Given the description of an element on the screen output the (x, y) to click on. 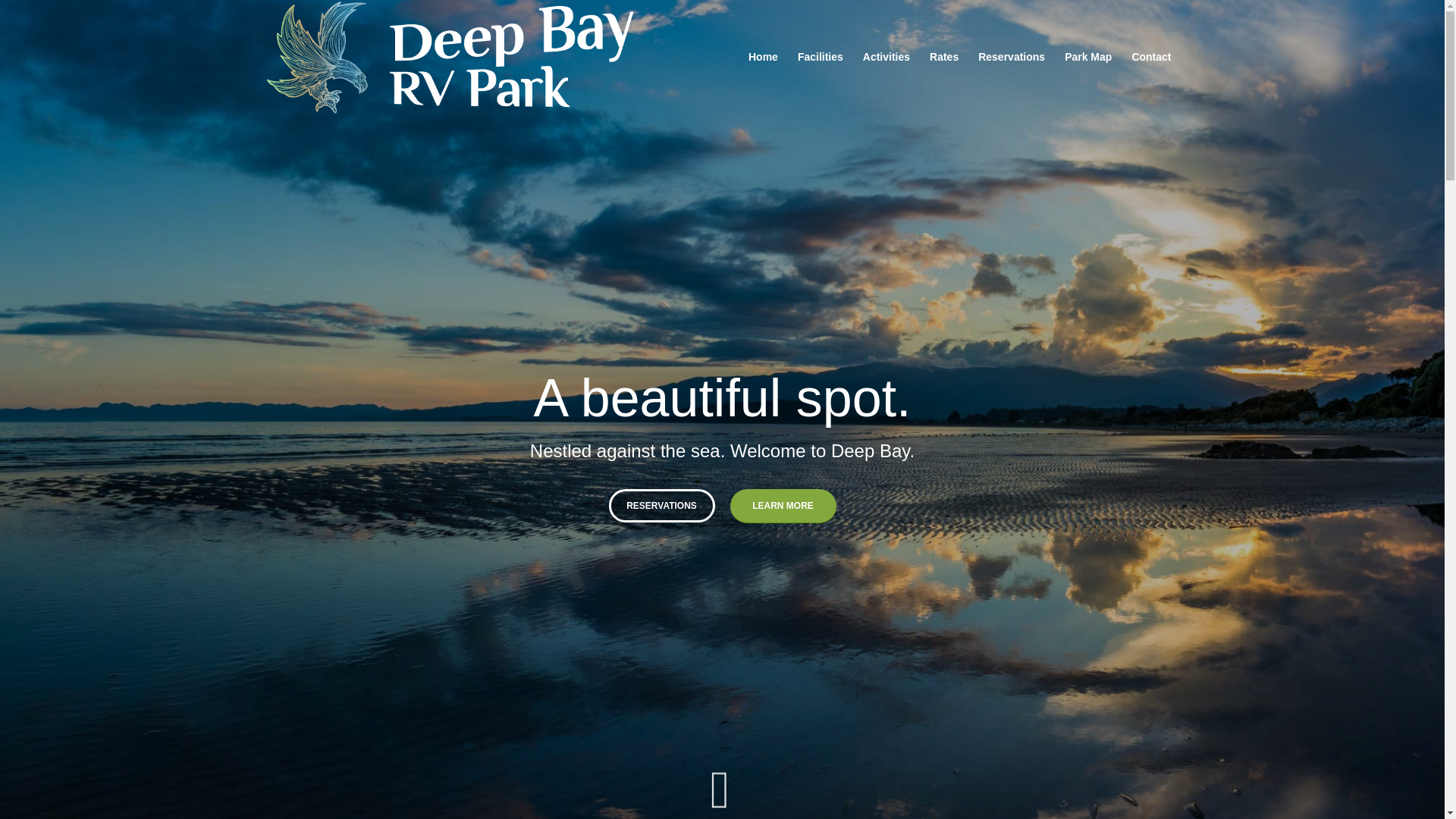
Activities (886, 56)
LEARN MORE (782, 497)
Home (762, 56)
Reservations (1011, 56)
eagle-logo (458, 56)
Contact (1150, 56)
Facilities (820, 56)
RESERVATIONS (661, 496)
Rates (944, 56)
Park Map (1087, 56)
